Given the description of an element on the screen output the (x, y) to click on. 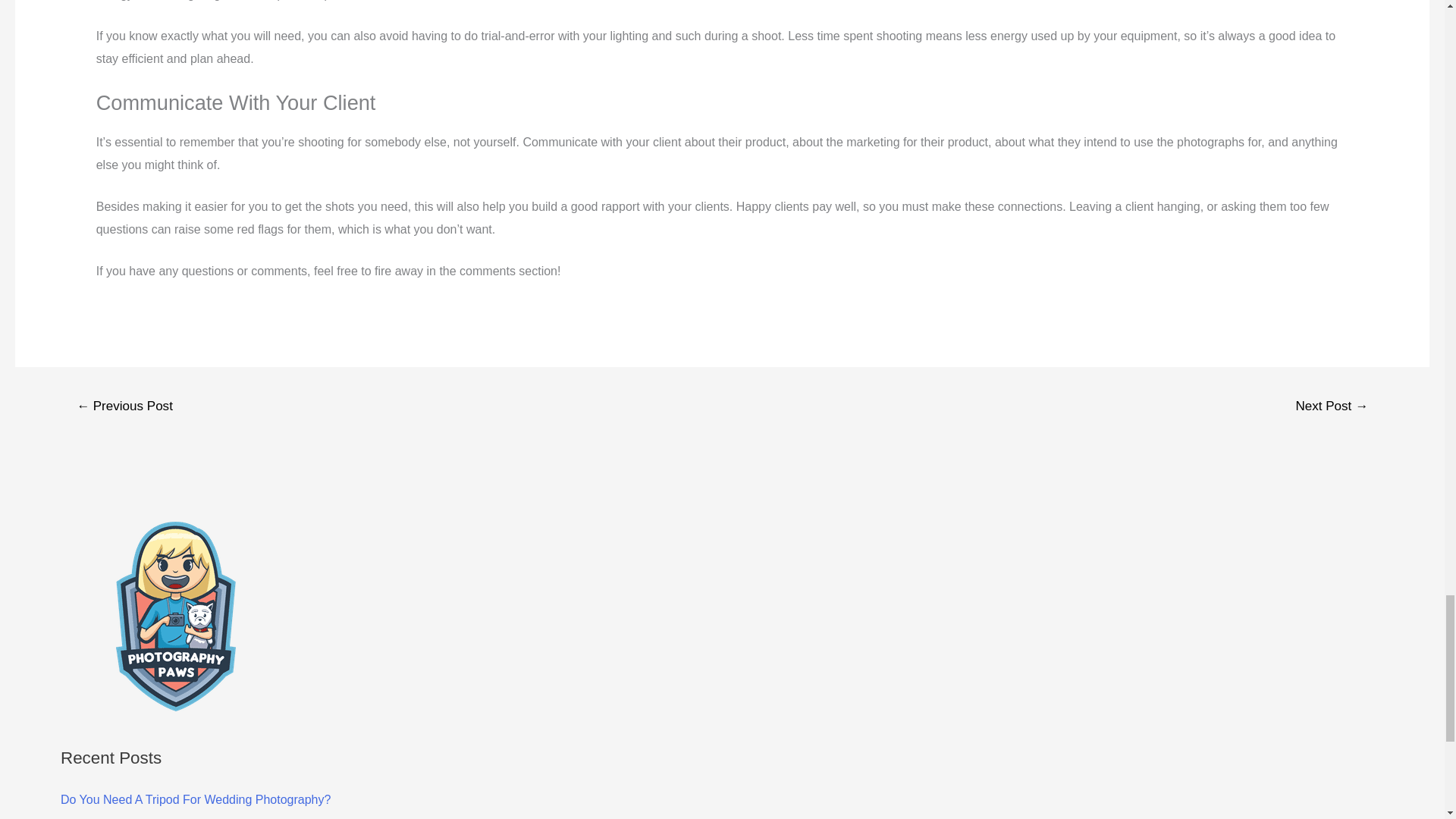
Do You Need A Tripod For Wedding Photography? (195, 799)
